Given the description of an element on the screen output the (x, y) to click on. 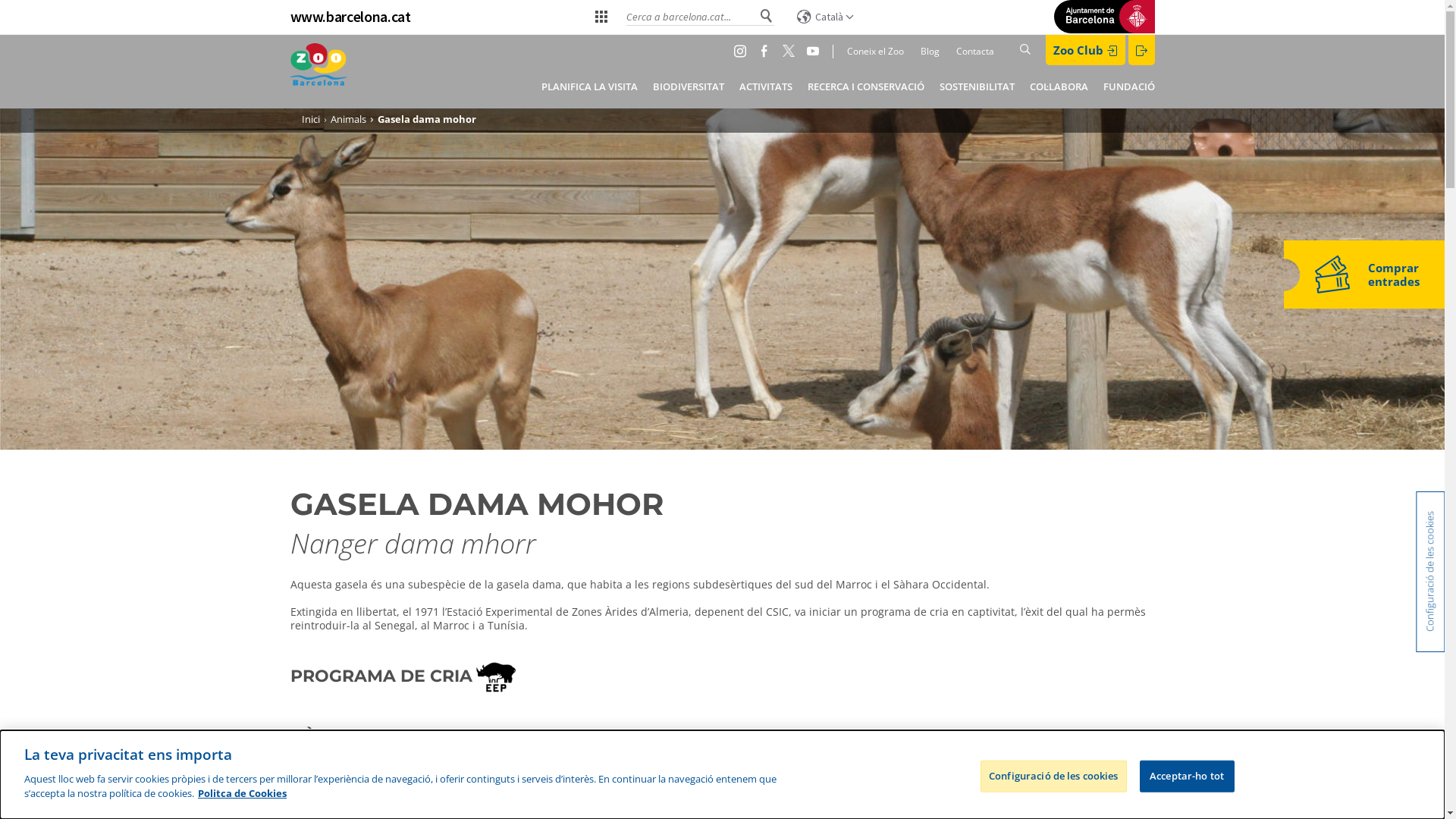
www.barcelona.cat Element type: text (349, 15)
Acceptar-ho tot Element type: text (1186, 775)
Youtube Element type: text (815, 50)
GASELA DAMA MOHOR Element type: text (475, 503)
Contacta Element type: text (972, 51)
Inici Element type: hover (317, 71)
Twitter Element type: text (791, 50)
Coneix el Zoo Element type: text (867, 51)
PLANIFICA LA VISITA Element type: text (589, 86)
D'acord Element type: text (976, 796)
Instagram Element type: text (743, 50)
BIODIVERSITAT Element type: text (687, 86)
cookies Element type: text (728, 802)
CERCA Element type: text (1150, 49)
ACTIVITATS Element type: text (764, 86)
Inici Element type: text (310, 118)
Animals Element type: text (348, 118)
Blog Element type: text (922, 51)
Comprar entrades Element type: text (1363, 273)
Facebook Element type: text (767, 50)
Politca de Cookies Element type: text (241, 793)
Zoo Club Element type: text (1084, 49)
SOSTENIBILITAT Element type: text (975, 86)
